Given the description of an element on the screen output the (x, y) to click on. 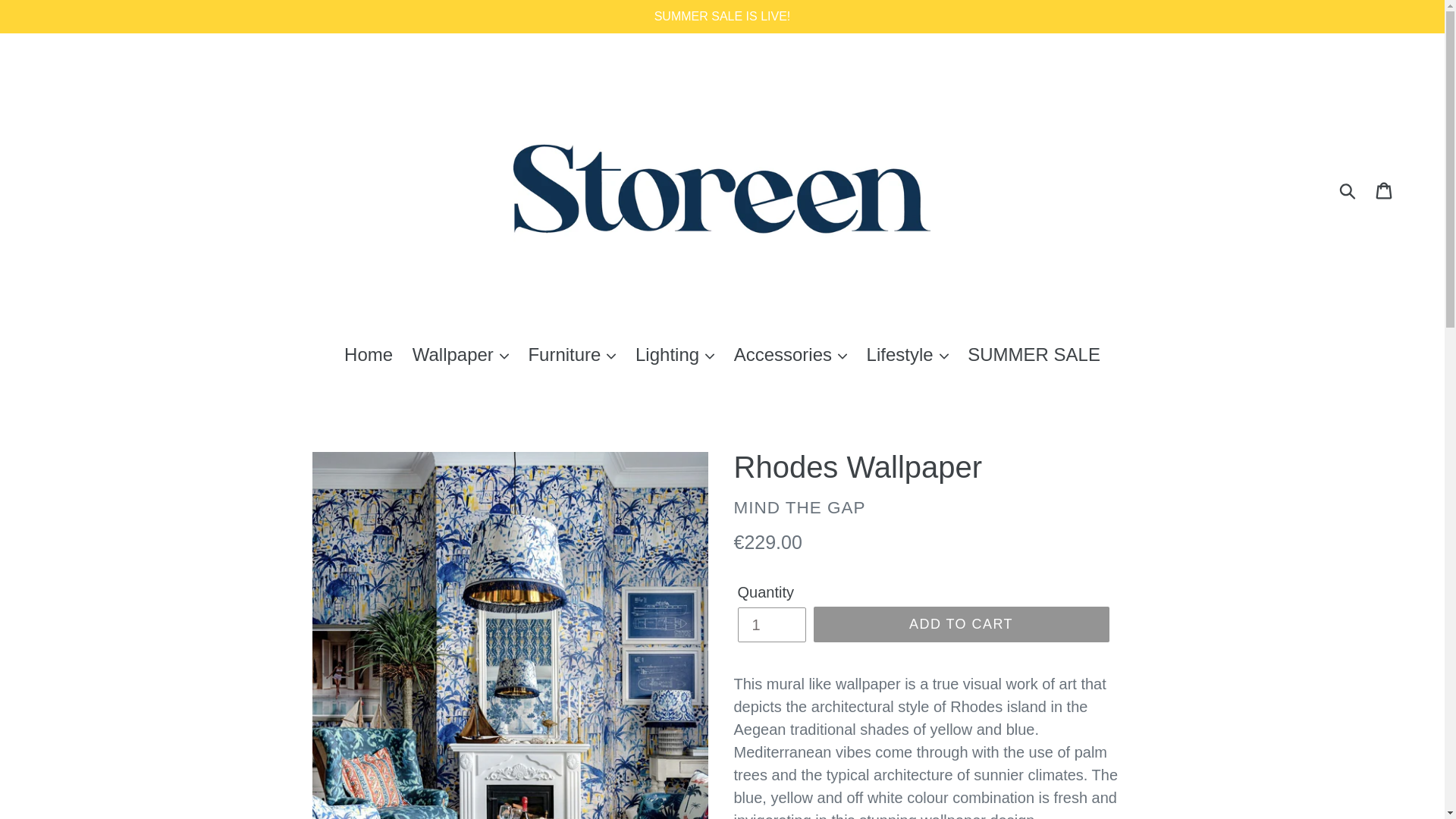
1 (770, 624)
Cart (1385, 188)
Submit (1348, 188)
